Given the description of an element on the screen output the (x, y) to click on. 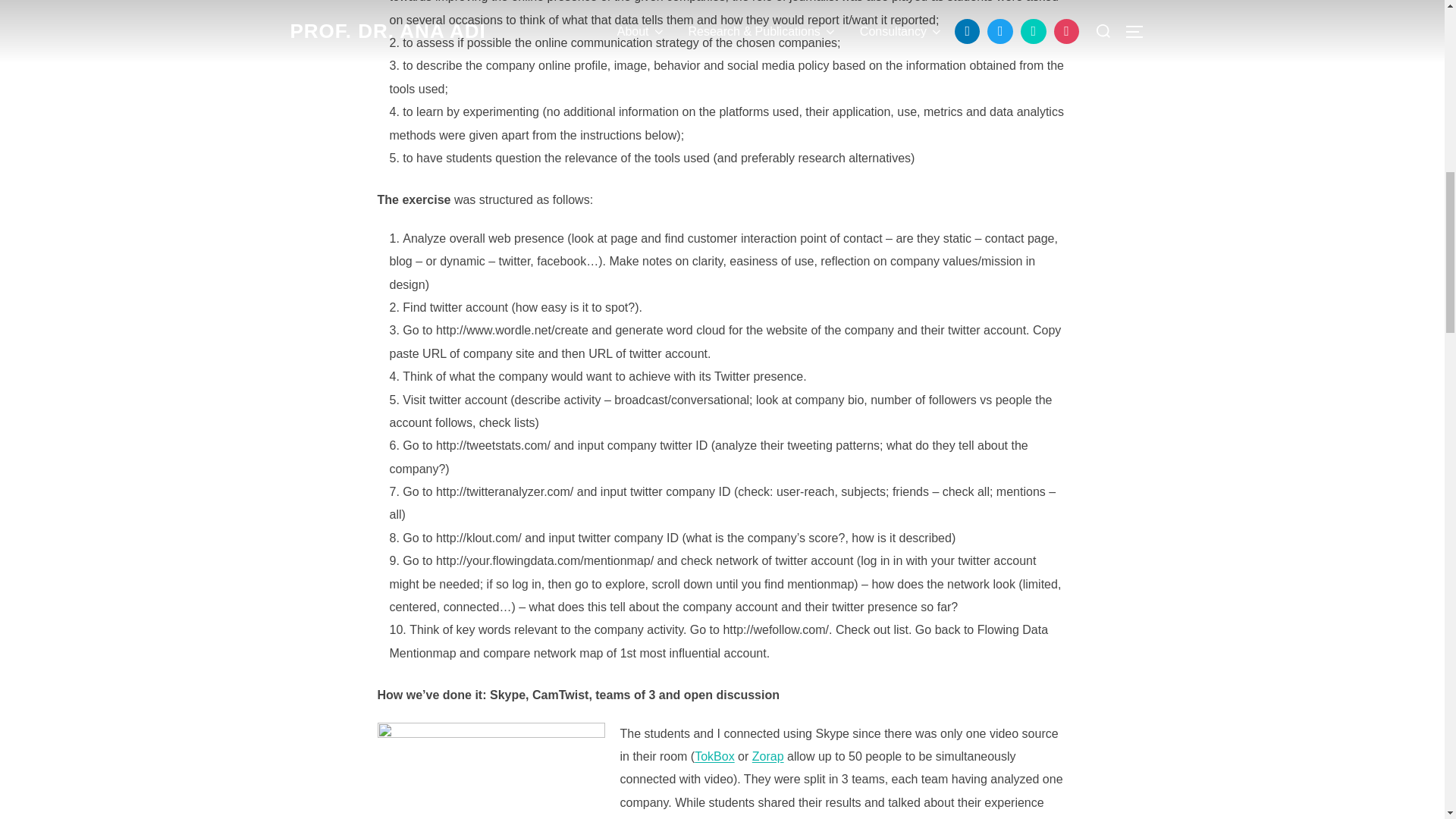
Picture 1 (491, 770)
